Given the description of an element on the screen output the (x, y) to click on. 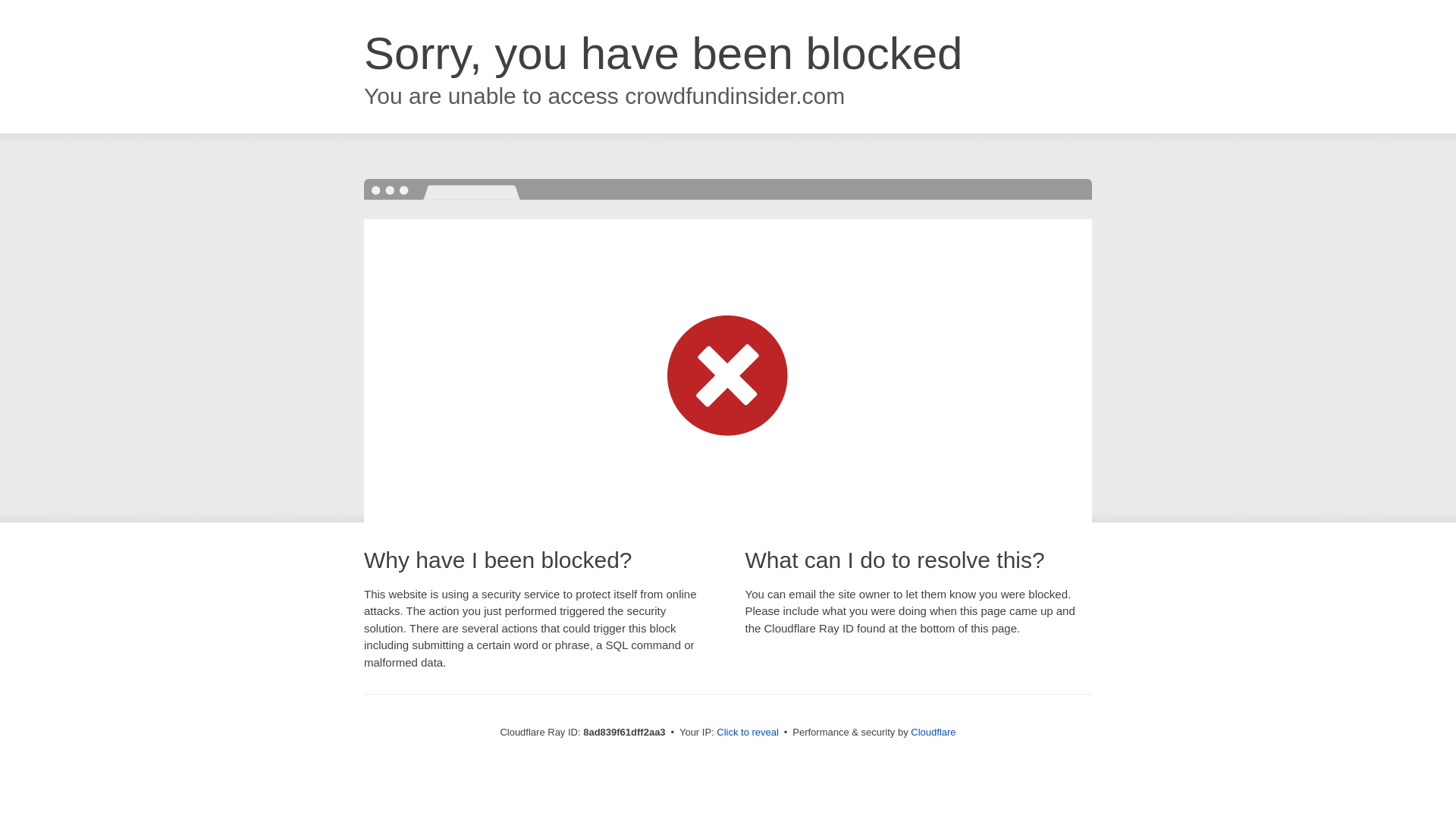
Click to reveal (747, 732)
Cloudflare (933, 731)
